Given the description of an element on the screen output the (x, y) to click on. 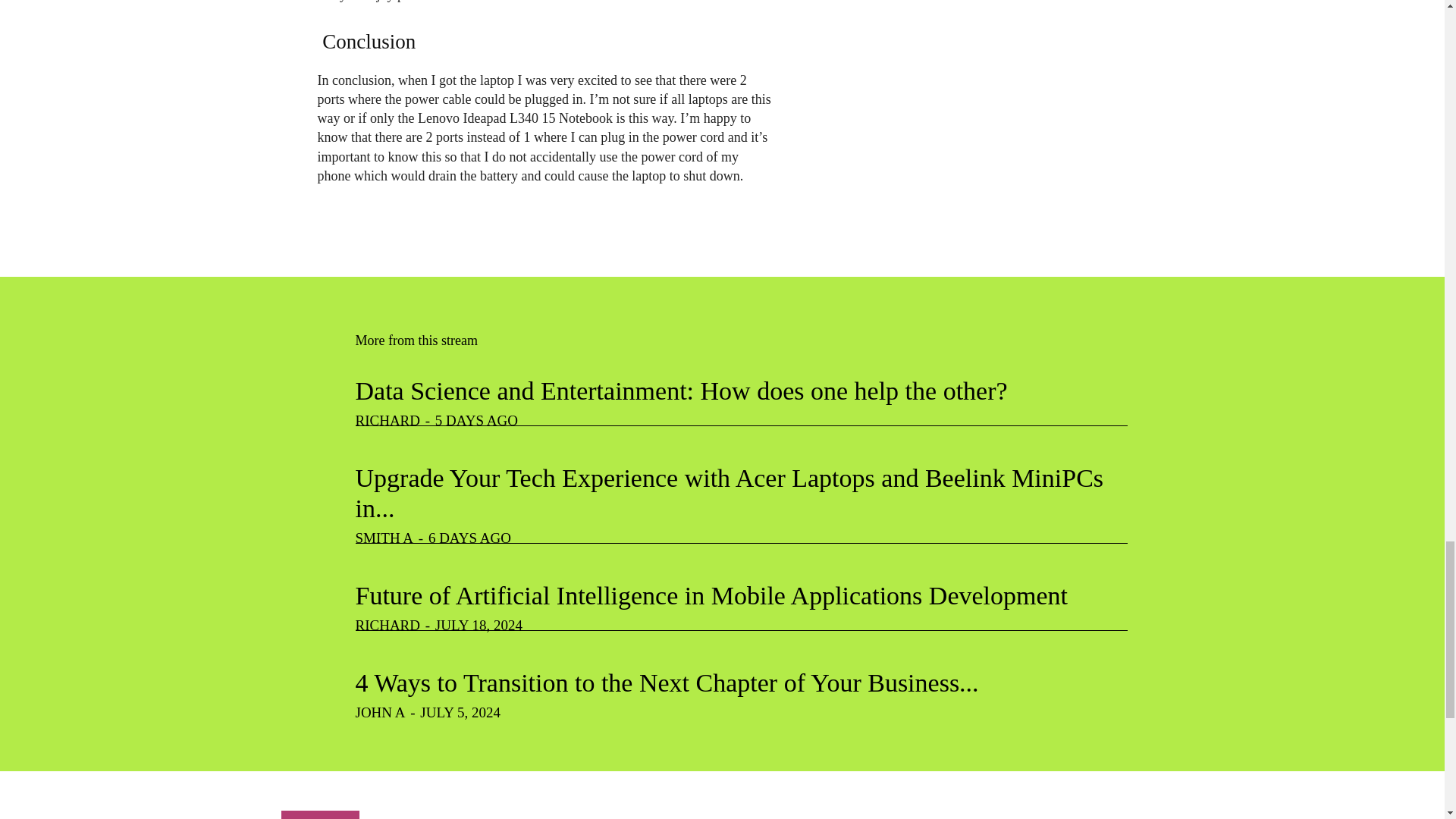
Data Science and Entertainment: How does one help the other? (681, 390)
RICHARD (387, 420)
Data Science and Entertainment: How does one help the other? (681, 390)
